Given the description of an element on the screen output the (x, y) to click on. 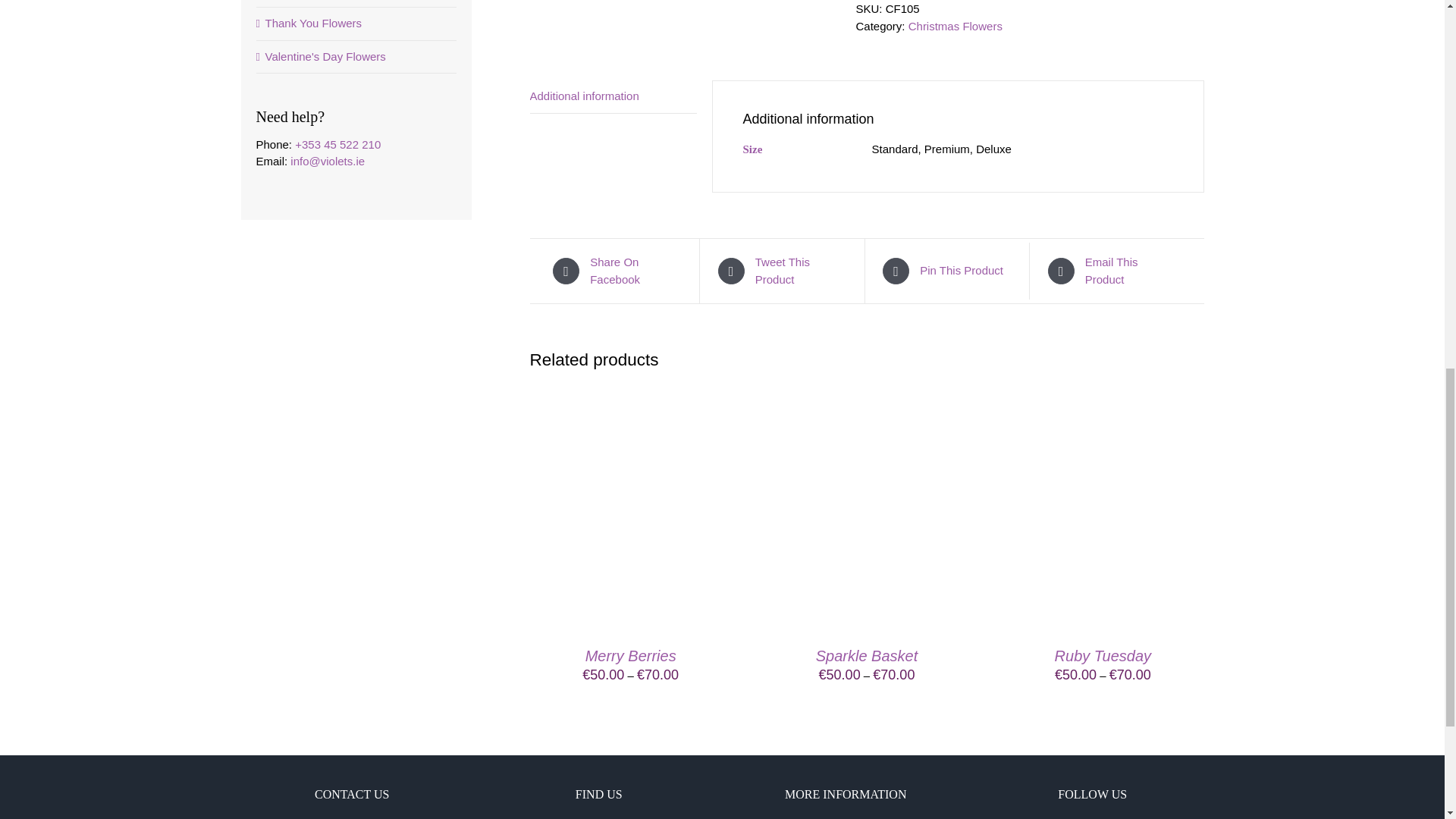
Tweet This Product (783, 270)
Christmas Flowers (955, 25)
Ruby Tuesday (1102, 655)
Share On Facebook (618, 270)
Email This Product (1114, 270)
Sparkle Basket (866, 655)
Merry Berries (631, 655)
Pin This Product (948, 270)
Additional information (612, 96)
